Given the description of an element on the screen output the (x, y) to click on. 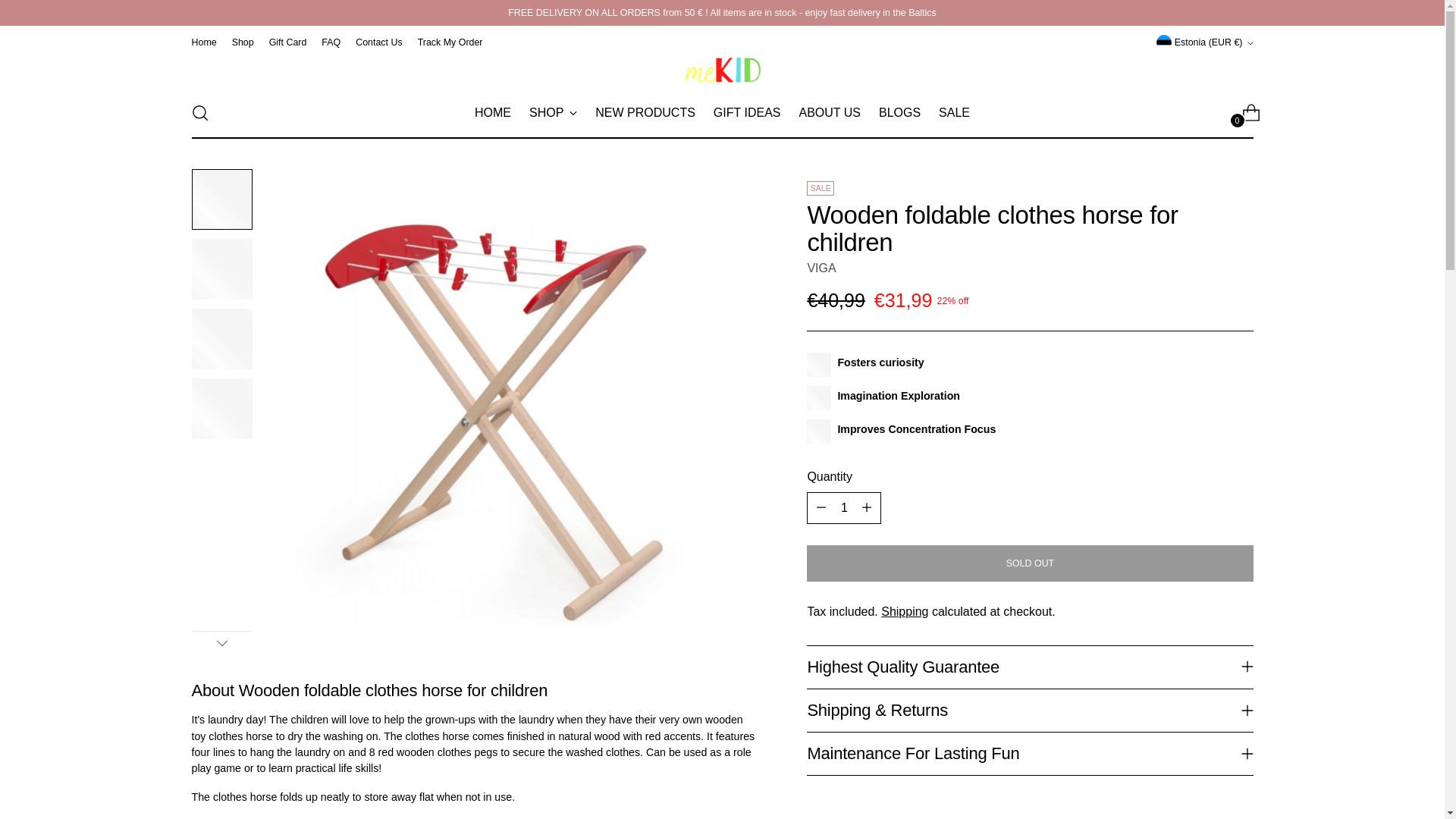
BLOGS (899, 112)
Contact Us (378, 41)
Home (202, 41)
Track My Order (450, 41)
1 (843, 508)
GIFT IDEAS (746, 112)
Down (722, 112)
SALE (220, 642)
VIGA (954, 112)
ABOUT US (820, 267)
SHOP (828, 112)
Gift Card (552, 112)
FAQ (288, 41)
Shop (330, 41)
